Given the description of an element on the screen output the (x, y) to click on. 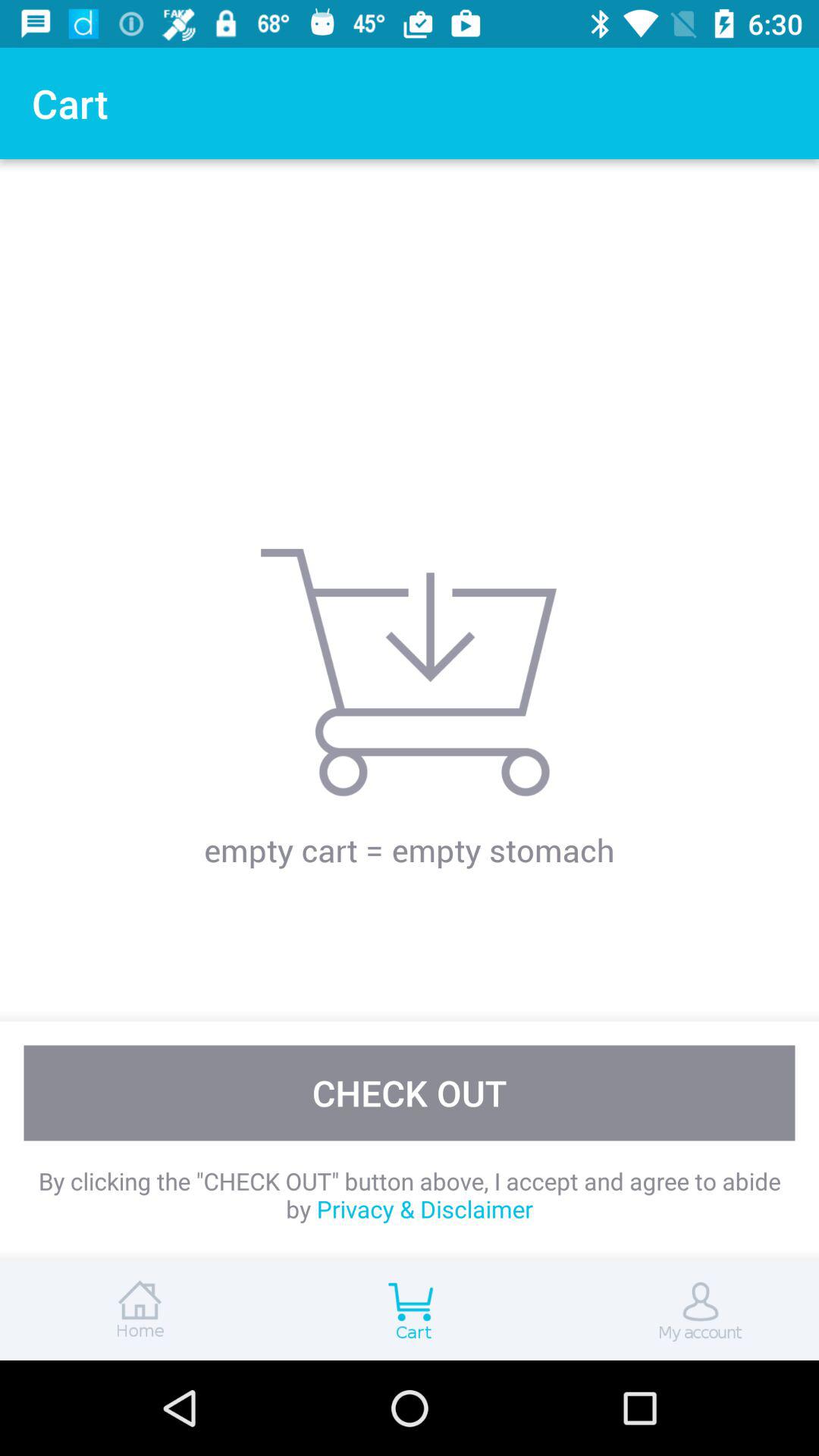
home (136, 1310)
